Given the description of an element on the screen output the (x, y) to click on. 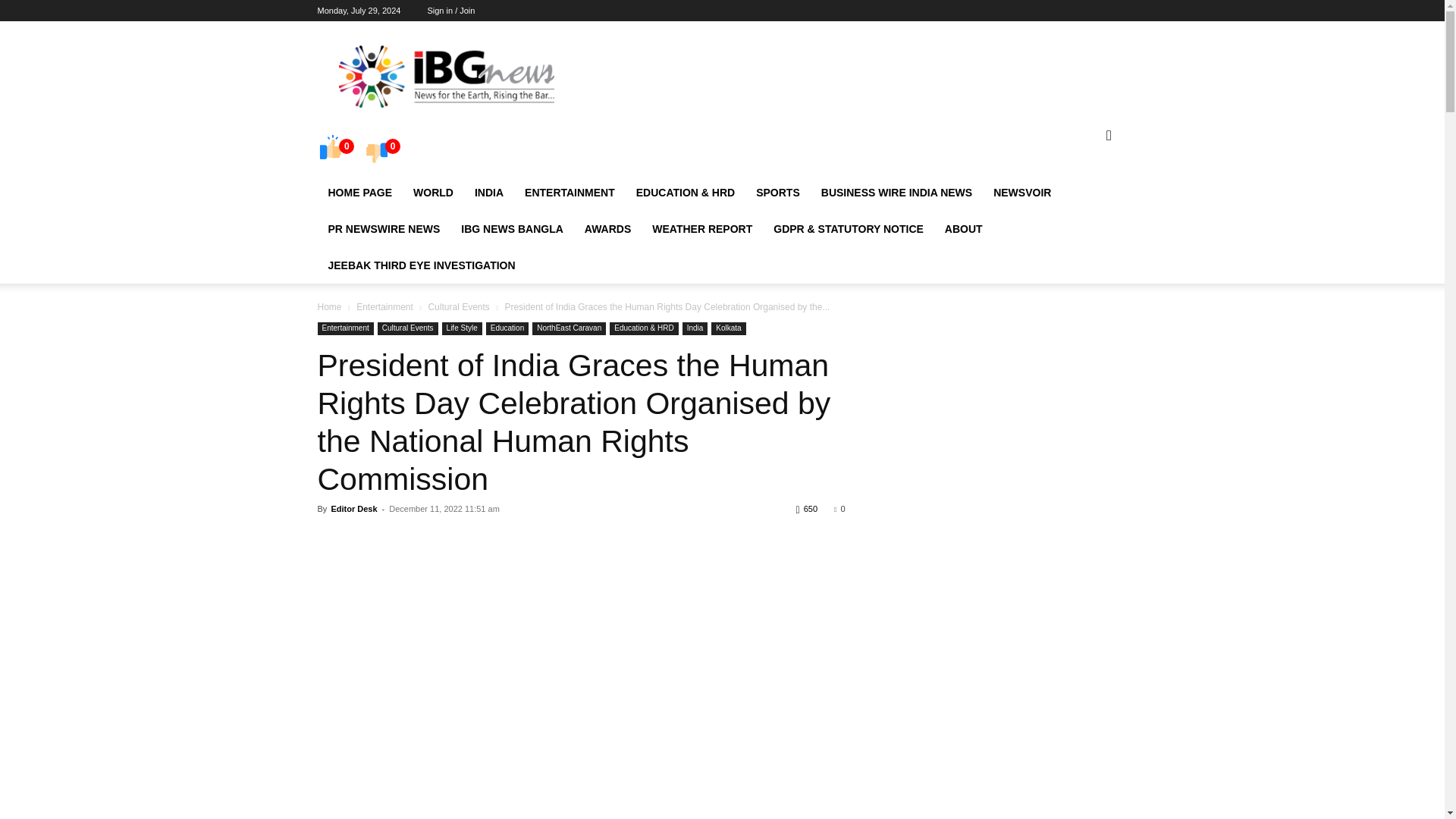
International Broadcasting of Global News (445, 76)
